Given the description of an element on the screen output the (x, y) to click on. 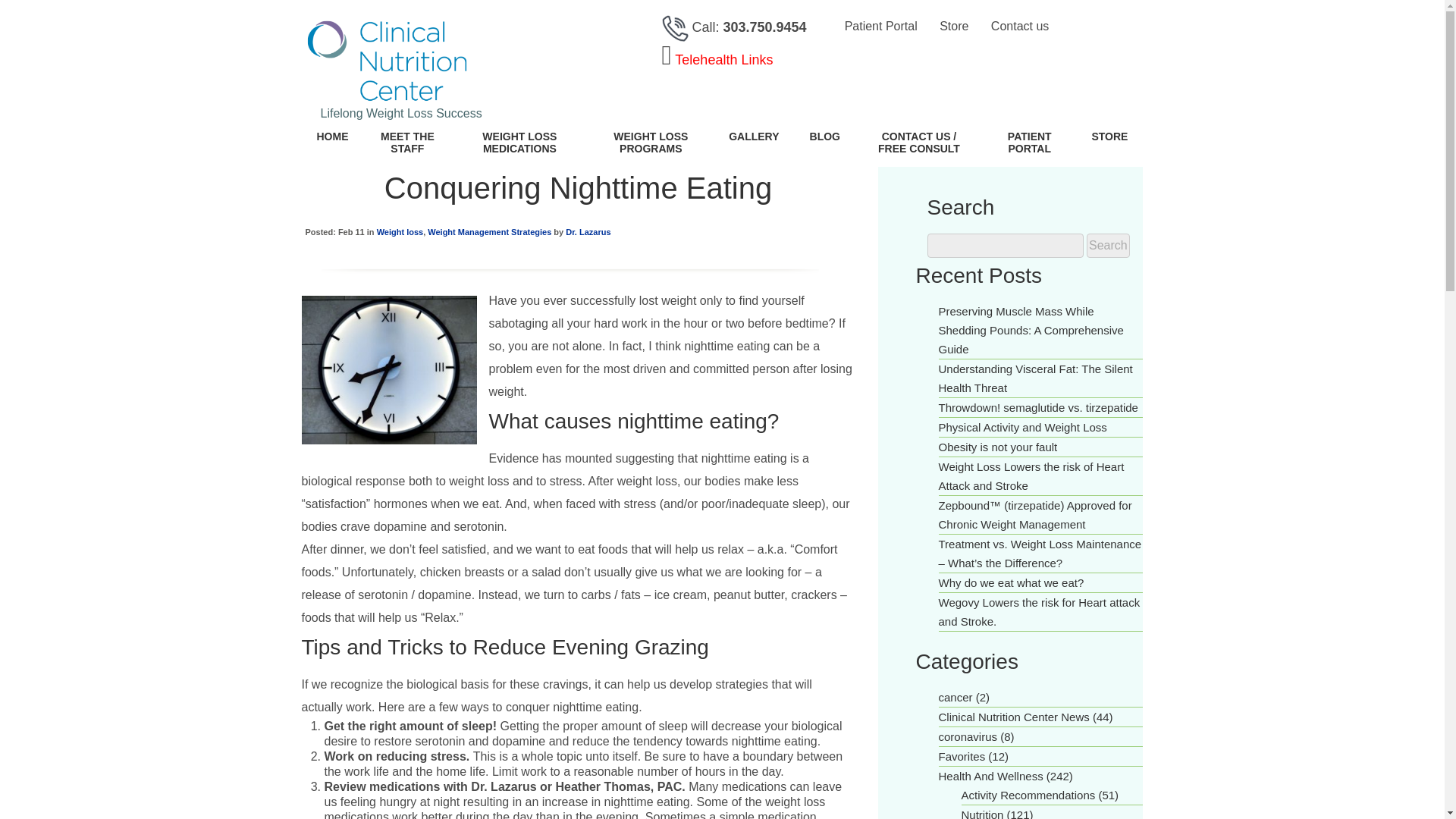
Weight loss (400, 231)
WEIGHT LOSS PROGRAMS (650, 146)
Search (1107, 245)
303.750.9454 (764, 27)
GALLERY (753, 139)
Permanent Link to Physical Activity and Weight Loss (1022, 427)
Permanent Link to Why do we eat what we eat? (1011, 582)
Permanent Link to Throwdown! semaglutide vs. tirzepatide (1038, 407)
PATIENT PORTAL (1028, 146)
